Given the description of an element on the screen output the (x, y) to click on. 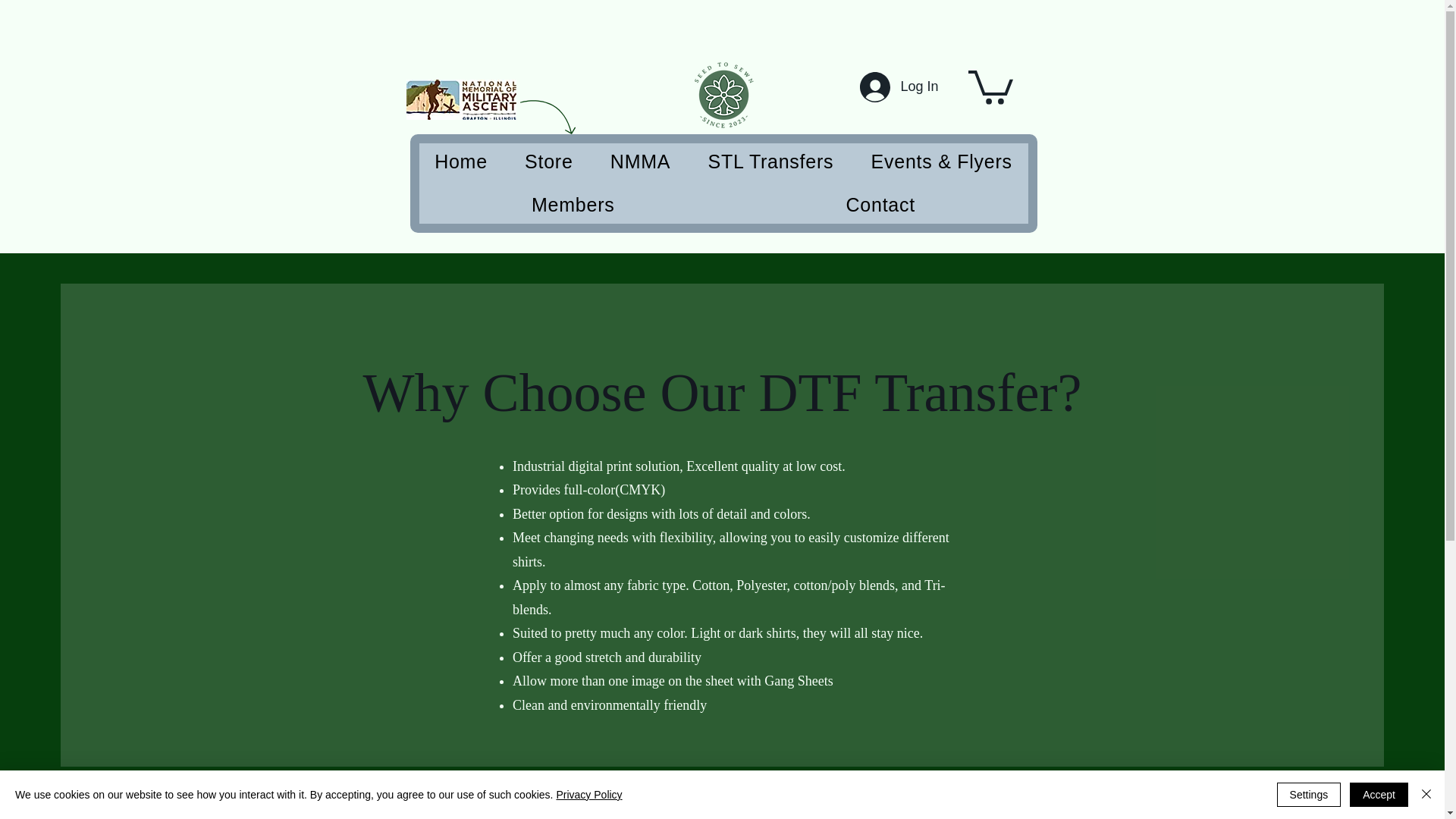
Members (572, 204)
Store (548, 161)
Log In (892, 86)
STL Transfers (770, 161)
Contact (880, 204)
NMMA (639, 161)
Home (460, 161)
